Given the description of an element on the screen output the (x, y) to click on. 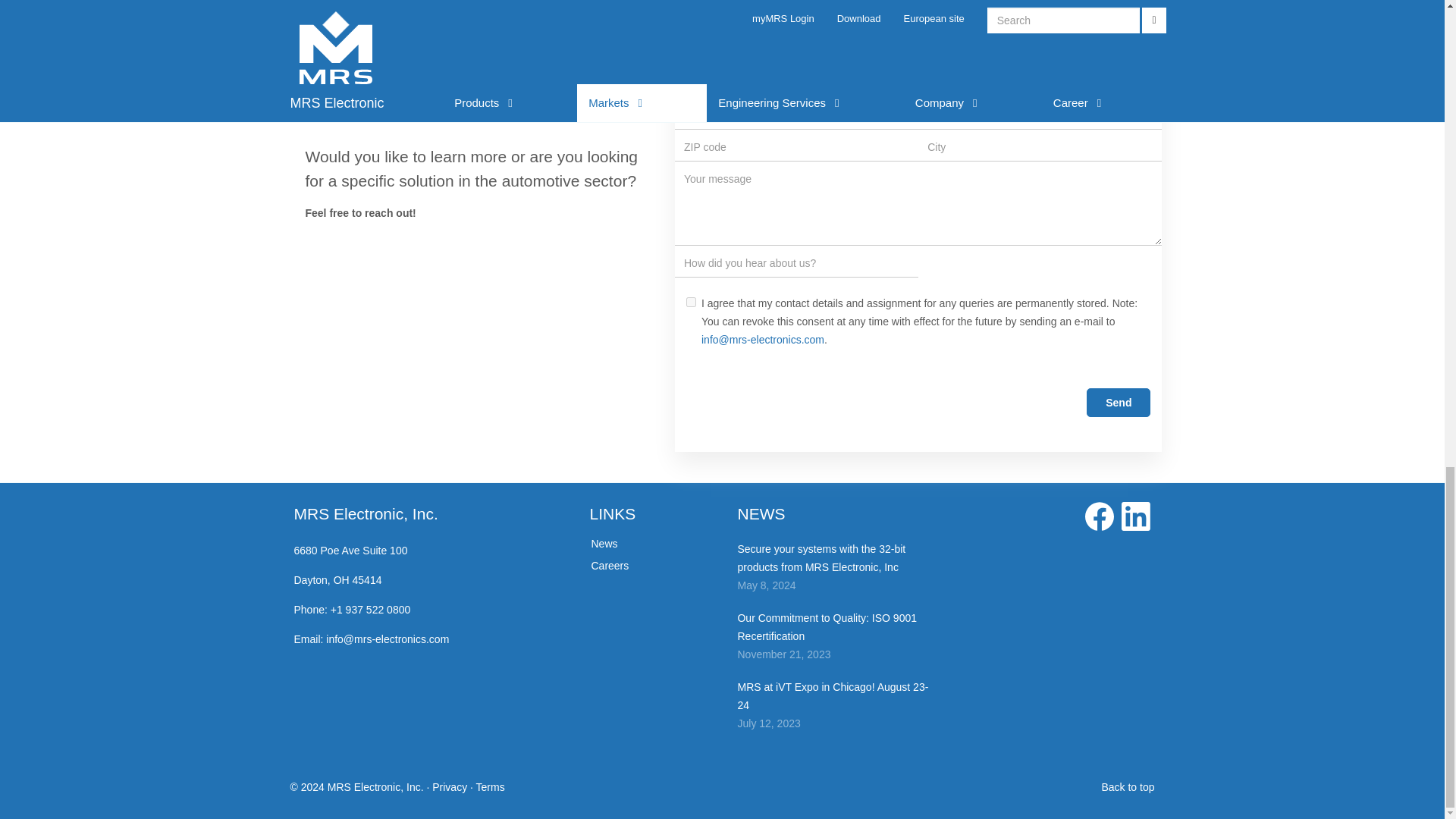
Send (1118, 402)
Careers (609, 565)
News (604, 543)
